Given the description of an element on the screen output the (x, y) to click on. 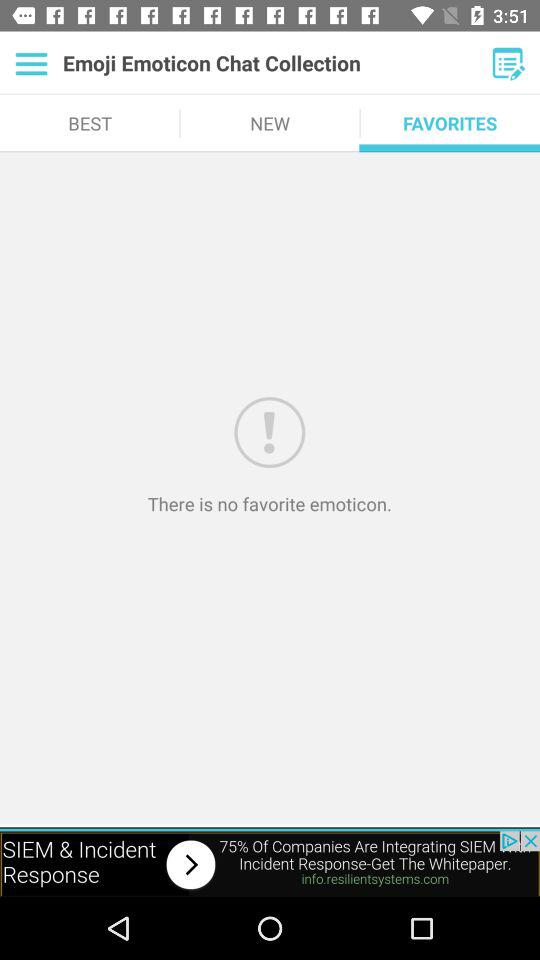
options setting (31, 63)
